Given the description of an element on the screen output the (x, y) to click on. 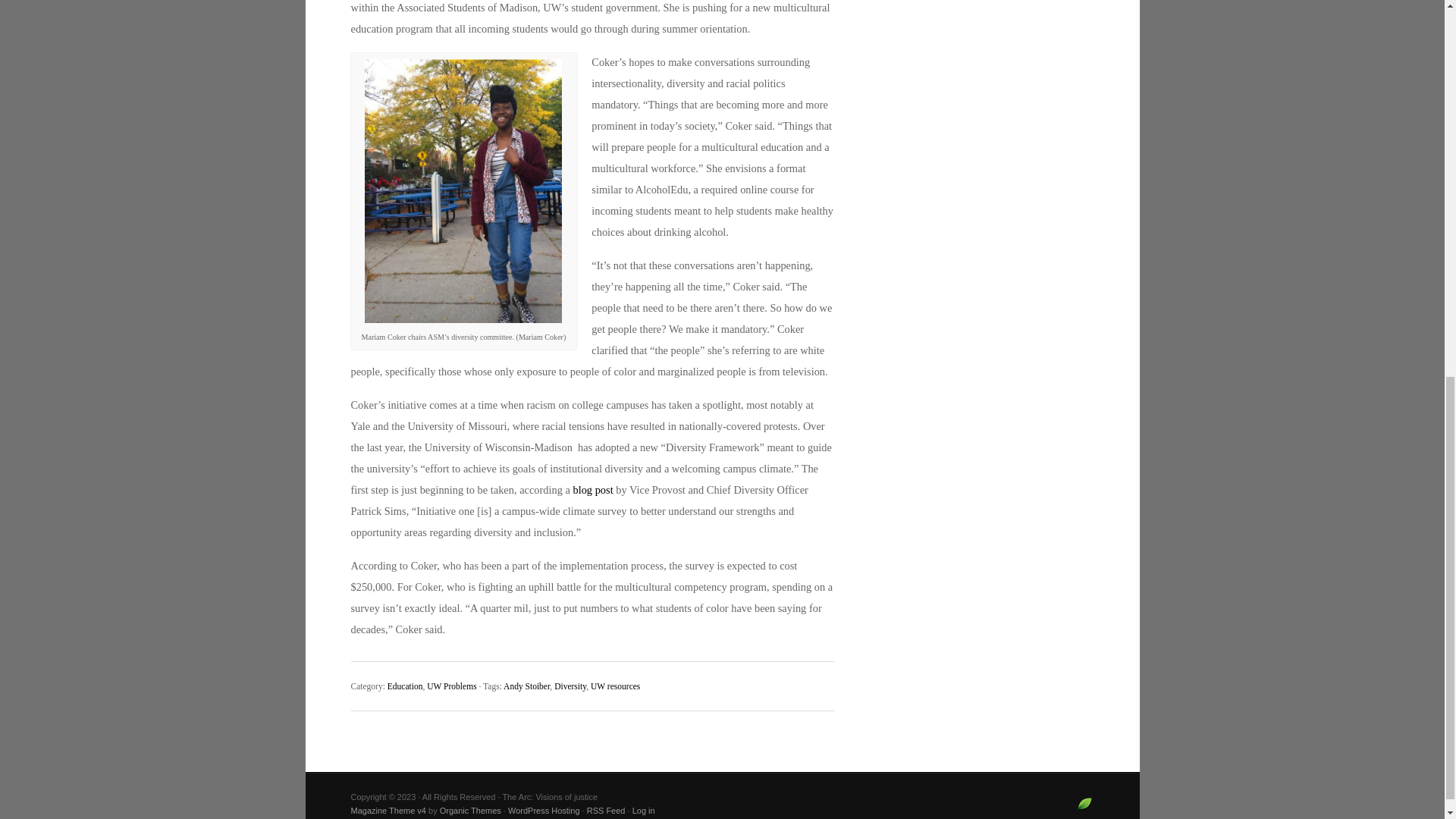
WordPress Hosting (543, 809)
Premium WordPress Themes (469, 809)
Organic Magazine WordPress Theme (387, 809)
Designer WordPress Themes (1084, 809)
